Given the description of an element on the screen output the (x, y) to click on. 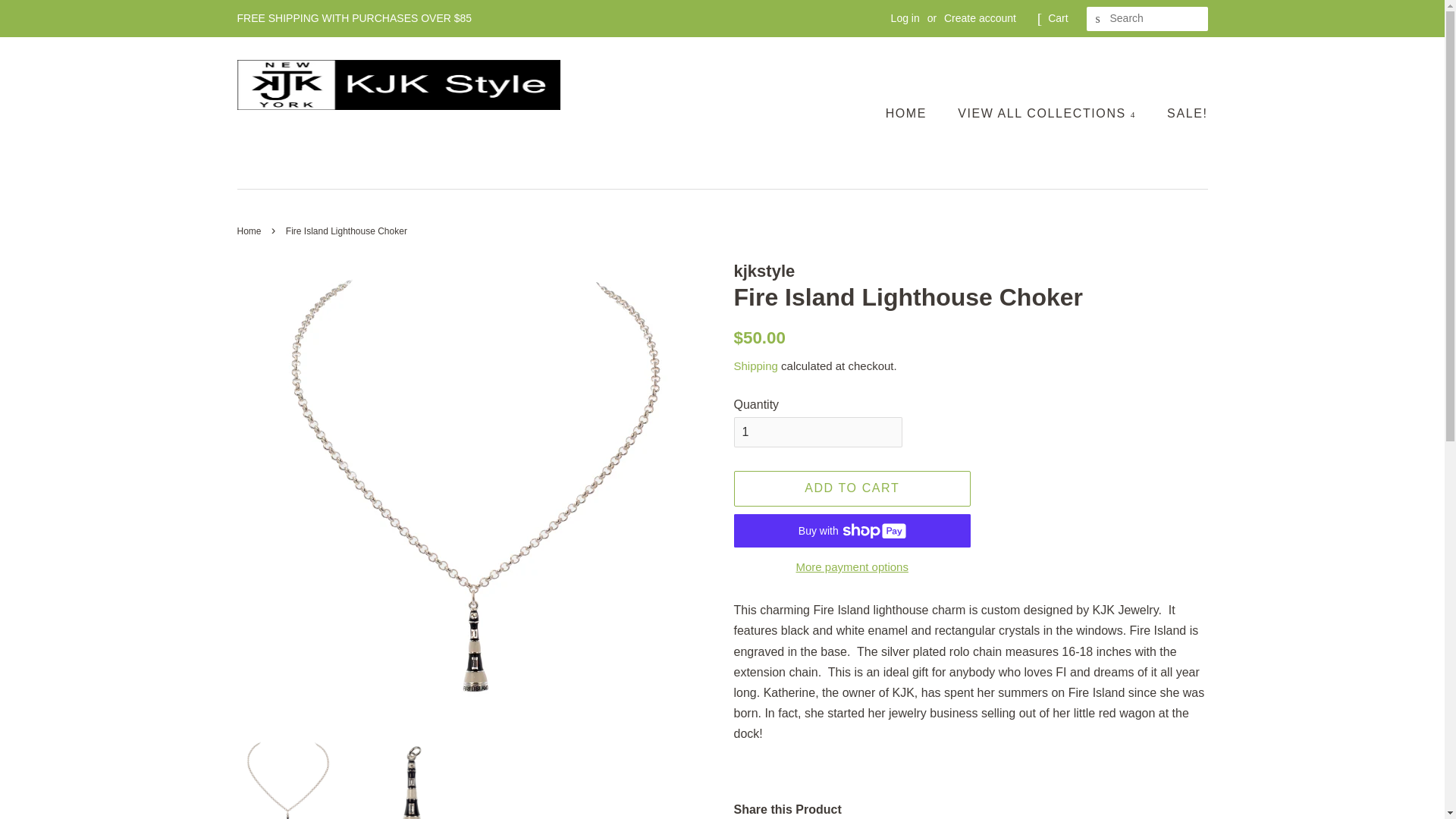
1 (817, 431)
SEARCH (1097, 18)
SALE! (1181, 112)
Create account (979, 18)
HOME (913, 112)
VIEW ALL COLLECTIONS (1048, 112)
Cart (1057, 18)
Log in (905, 18)
Back to the frontpage (249, 231)
Home (249, 231)
